Given the description of an element on the screen output the (x, y) to click on. 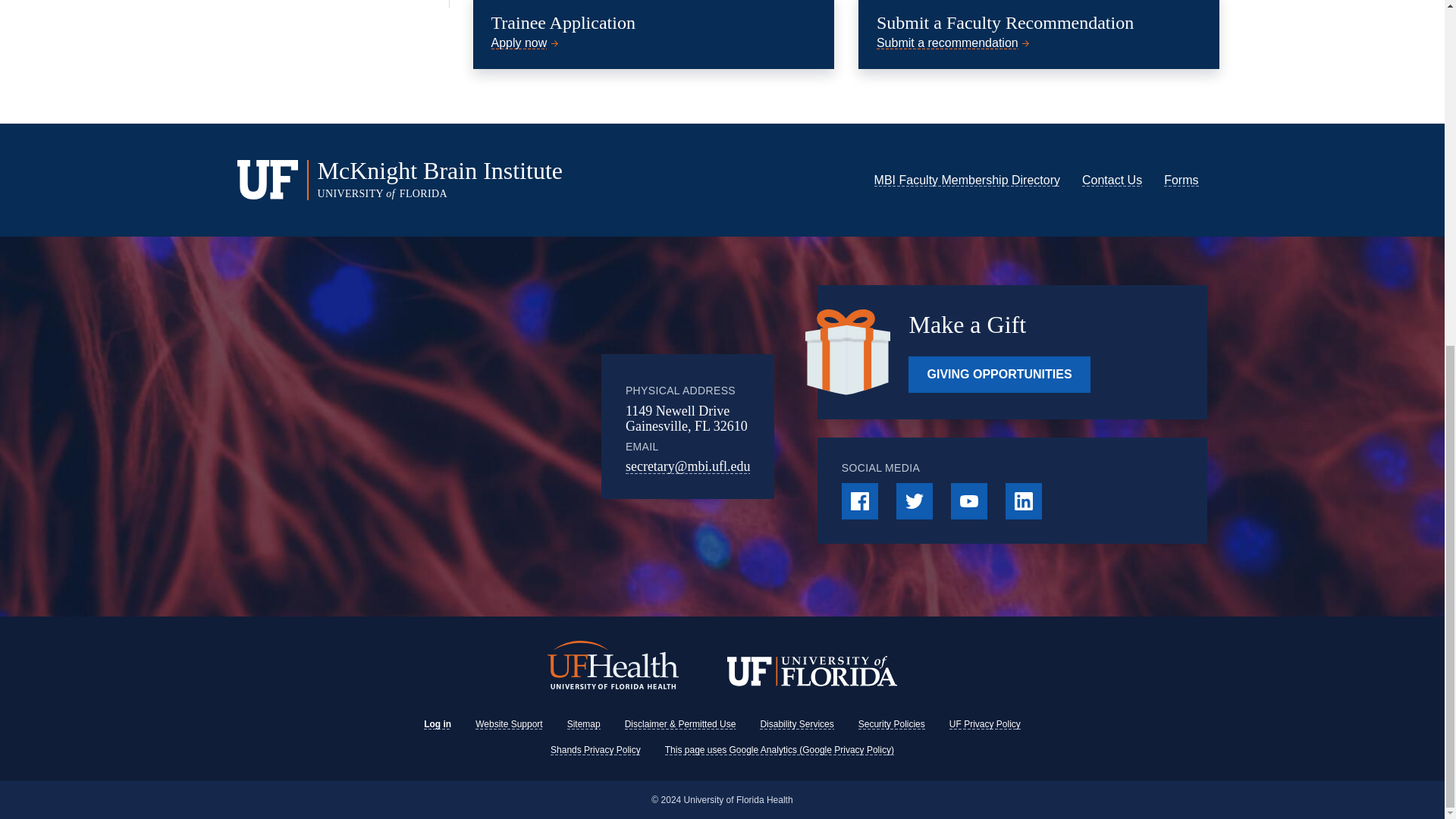
Apply now (527, 42)
Disability Services (796, 724)
Website Support (509, 724)
MBI Faculty Membership Directory (967, 179)
Shands Privacy Policy (595, 749)
Google Maps Embed (477, 426)
Contact Us (1111, 179)
Forms (1180, 179)
Security Policies (891, 724)
UF Privacy Policy (984, 724)
Sitemap (583, 724)
Submit a recommendation (954, 42)
Log in (437, 724)
